Given the description of an element on the screen output the (x, y) to click on. 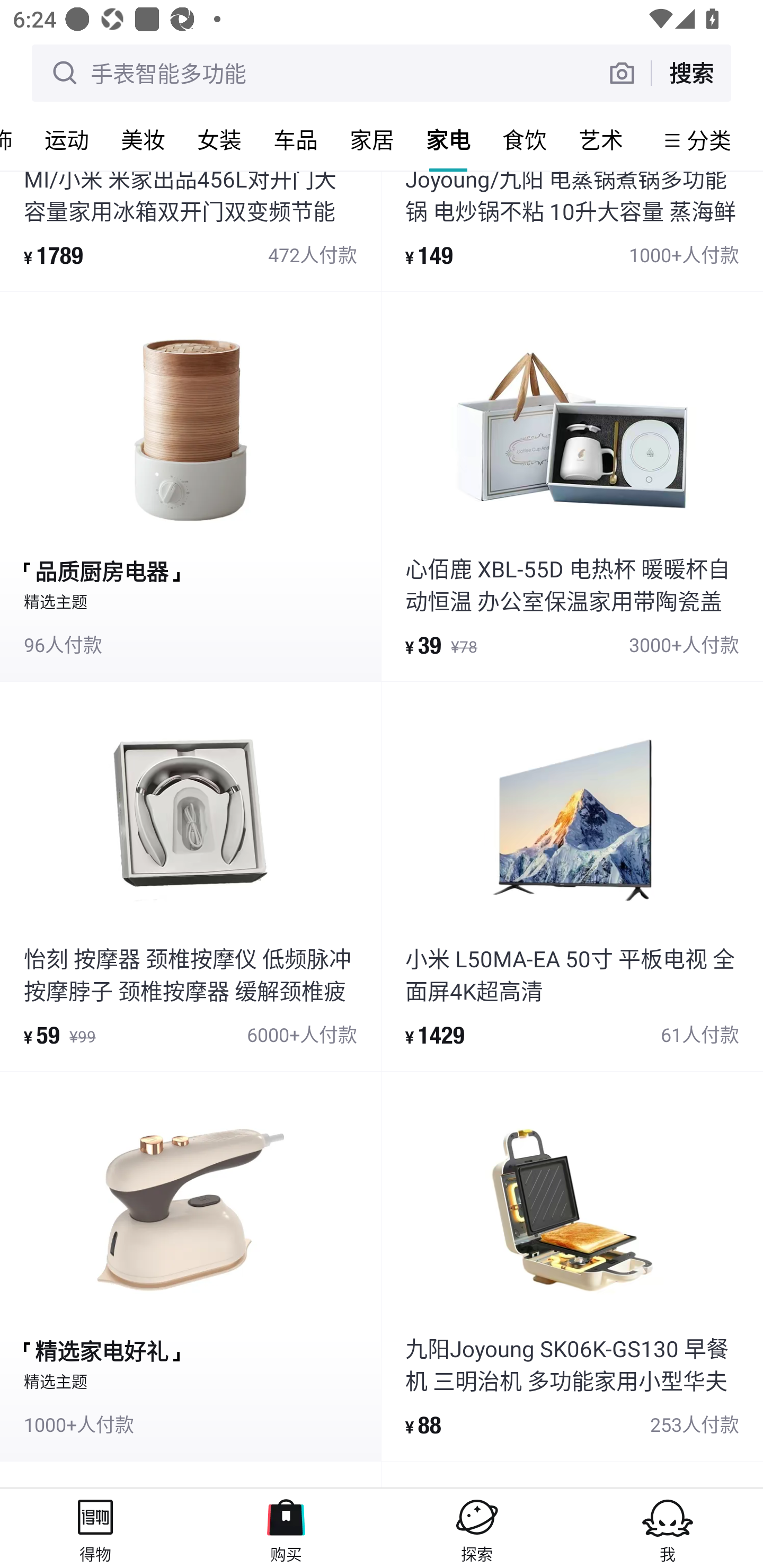
搜索 (690, 72)
运动 (66, 139)
美妆 (143, 139)
女装 (219, 139)
车品 (295, 139)
家居 (372, 139)
家电 (448, 139)
食饮 (524, 139)
艺术 (601, 139)
分类 (708, 139)
品质厨房电器 精选主题 96人付款 (190, 485)
精选家电好礼 精选主题 1000+人付款 (190, 1265)
得物 (95, 1528)
购买 (285, 1528)
探索 (476, 1528)
我 (667, 1528)
